Given the description of an element on the screen output the (x, y) to click on. 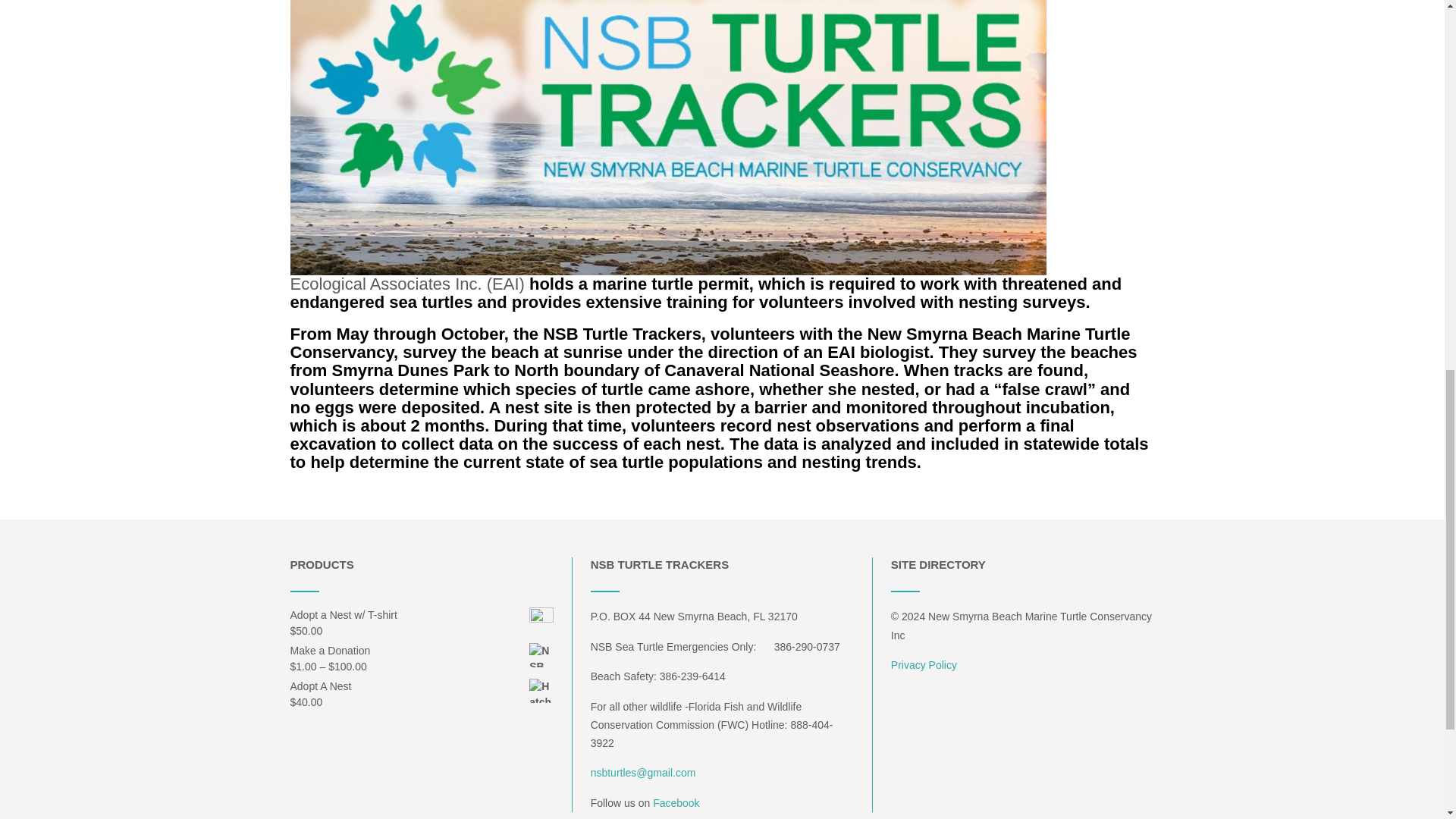
Facebook (675, 802)
Privacy Policy (923, 664)
Make a Donation (421, 650)
Adopt A Nest (421, 686)
